Given the description of an element on the screen output the (x, y) to click on. 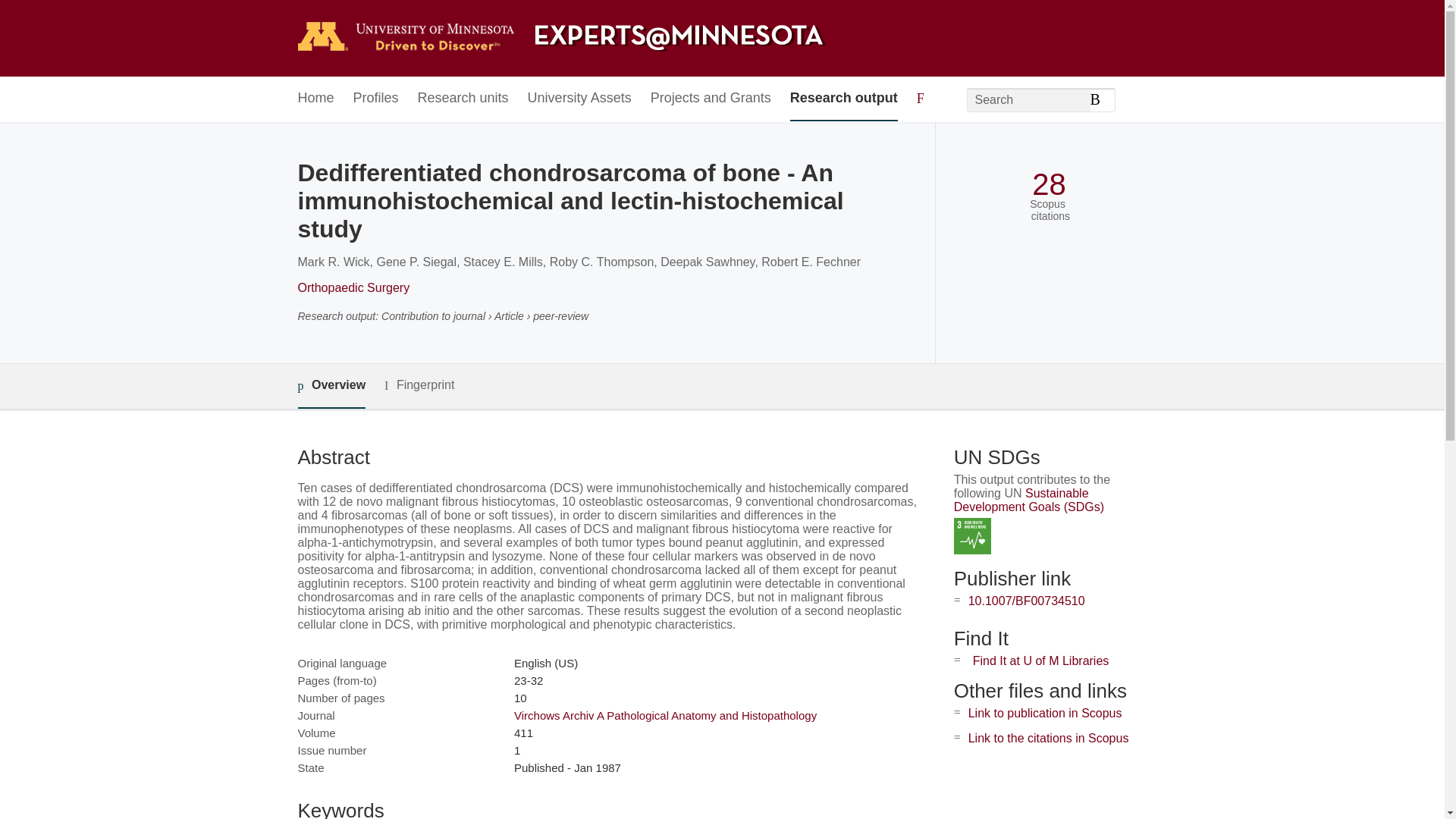
Virchows Archiv A Pathological Anatomy and Histopathology (664, 715)
Profiles (375, 98)
SDG 3 - Good Health and Well-being (972, 536)
Fingerprint (419, 385)
Projects and Grants (710, 98)
Link to the citations in Scopus (1048, 738)
Research units (462, 98)
28 (1048, 184)
Research output (844, 98)
Find It at U of M Libraries (1040, 660)
Orthopaedic Surgery (353, 287)
Overview (331, 385)
University Assets (579, 98)
Link to publication in Scopus (1045, 712)
